Given the description of an element on the screen output the (x, y) to click on. 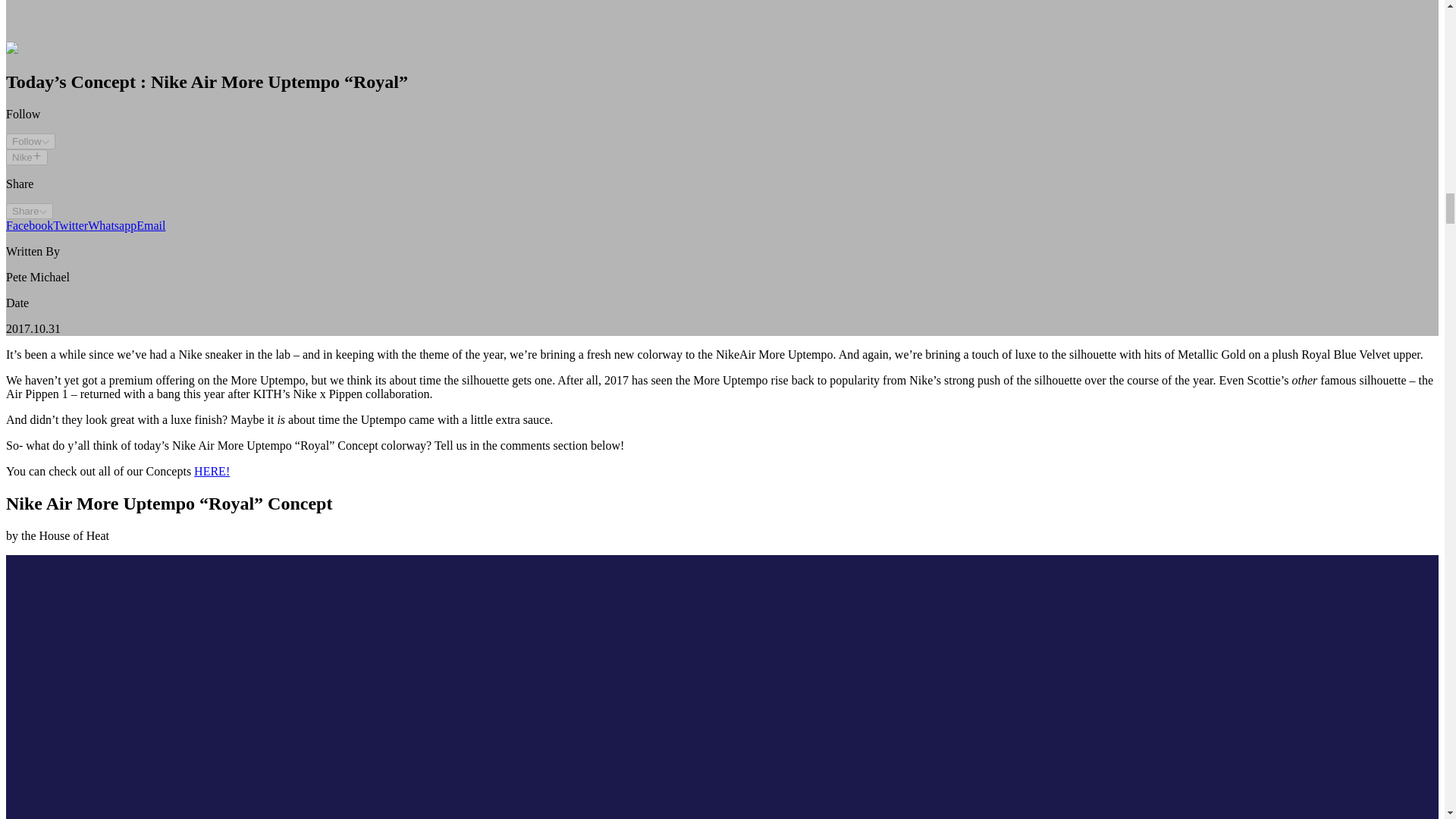
Facebook (28, 225)
Whatsapp (111, 225)
Email (150, 225)
Nike (26, 157)
Follow (30, 141)
Share (28, 211)
Twitter (69, 225)
HERE! (211, 471)
